Given the description of an element on the screen output the (x, y) to click on. 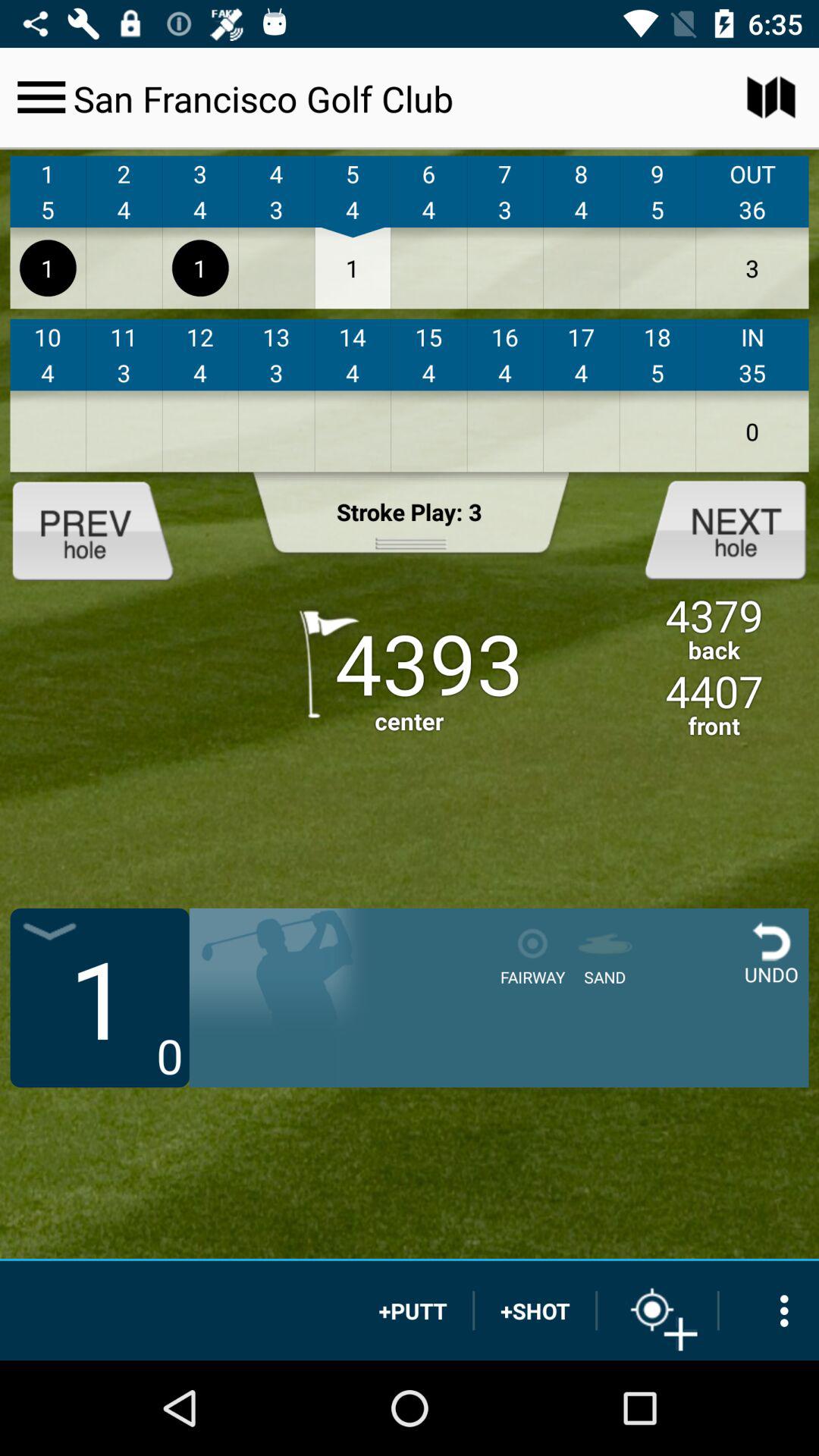
menu option (41, 97)
